Given the description of an element on the screen output the (x, y) to click on. 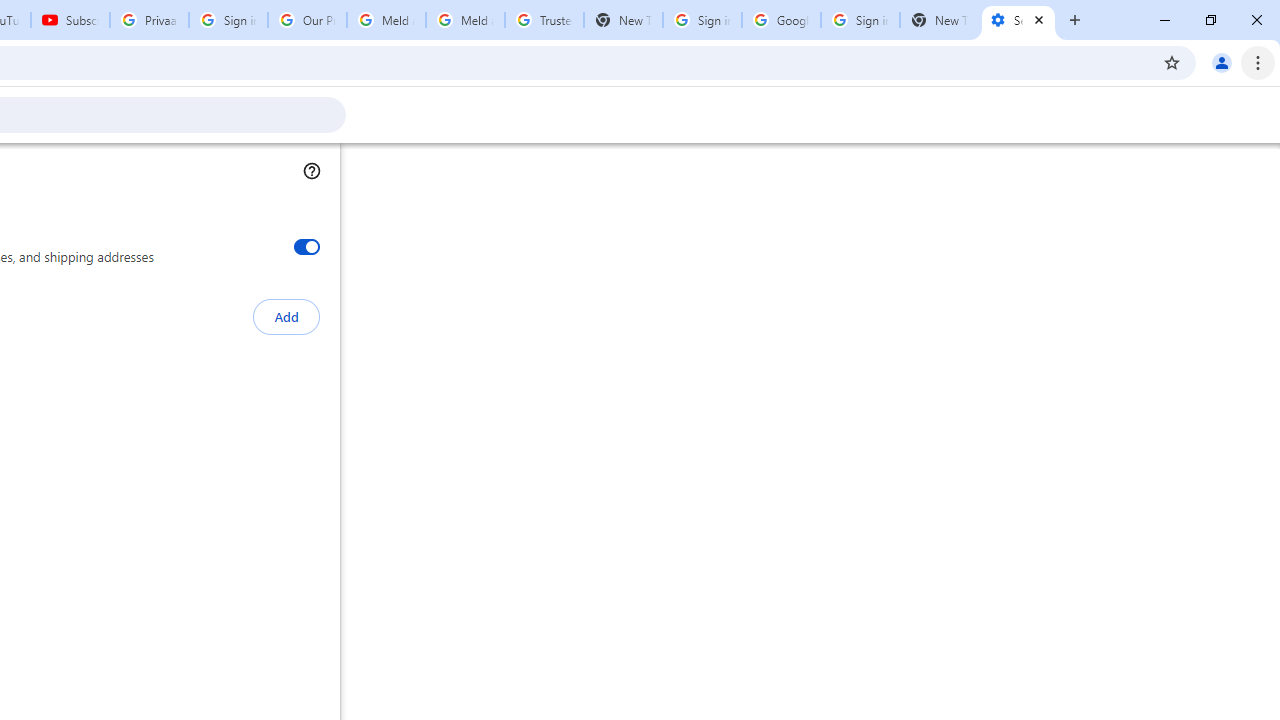
Sign in - Google Accounts (702, 20)
New Tab (939, 20)
